Given the description of an element on the screen output the (x, y) to click on. 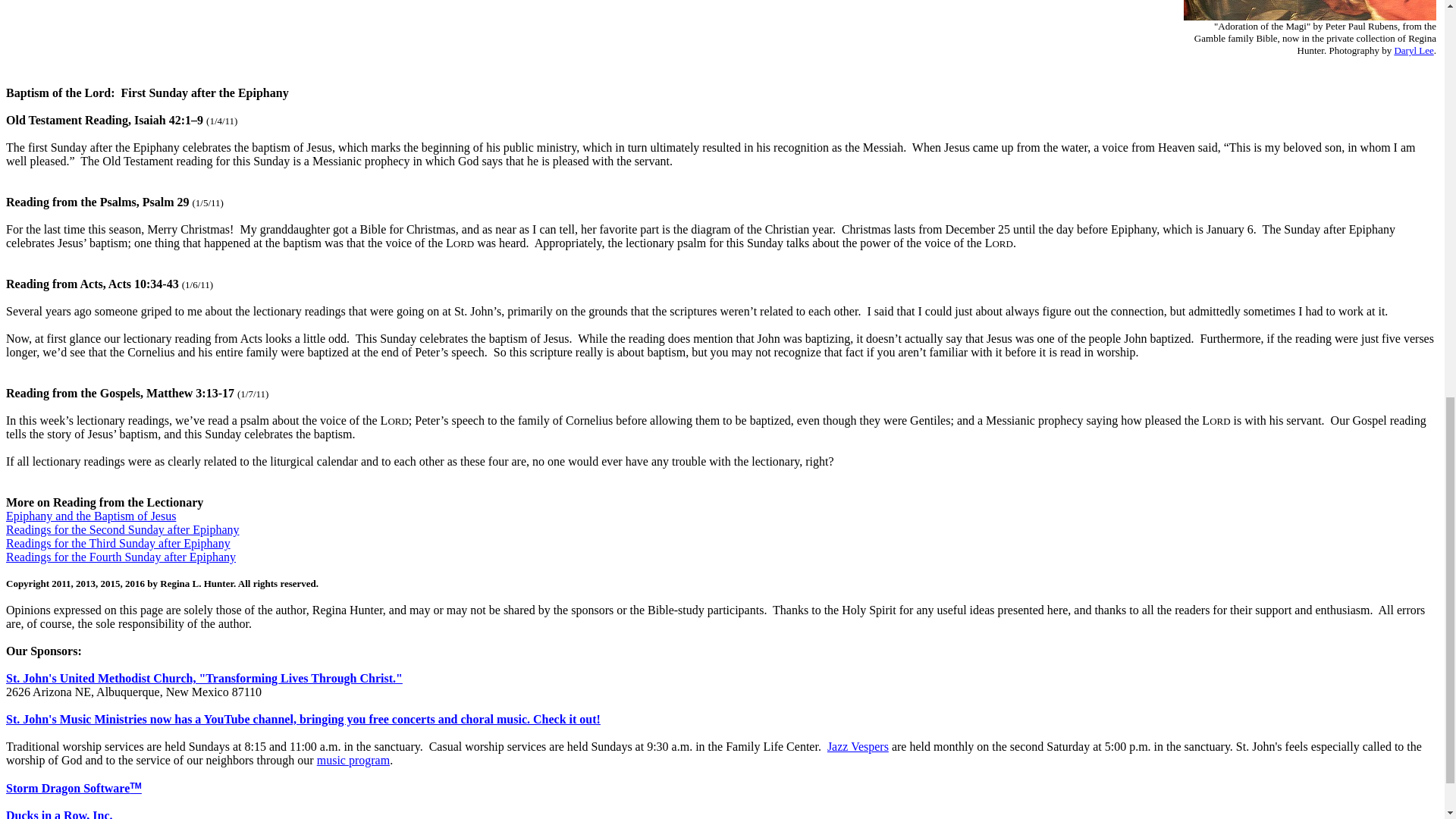
Daryl Lee (1412, 50)
Storm Dragon SoftwareTM (73, 788)
Adoration of the Magi. Click to enlarge. (1309, 10)
More on Reading from the Lectionary (104, 502)
music program (353, 759)
Ducks in a Row, Inc. (58, 814)
Epiphany and the Baptism of Jesus (90, 515)
